Given the description of an element on the screen output the (x, y) to click on. 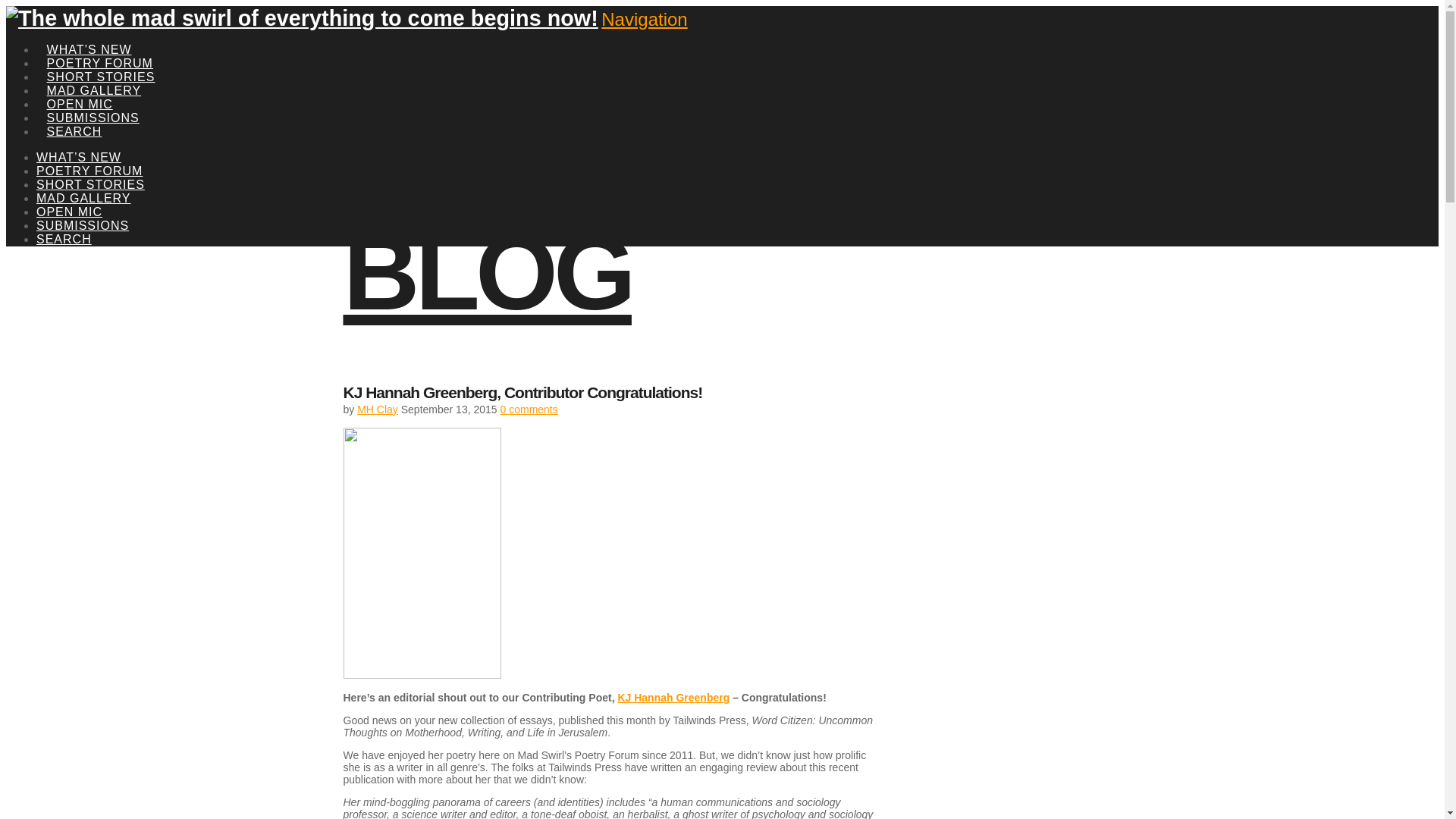
MAD GALLERY (93, 73)
Blog (628, 232)
SUBMISSIONS (82, 225)
SUBMISSIONS (92, 100)
OPEN MIC (68, 211)
SHORT STORIES (100, 59)
SEARCH (74, 114)
POETRY FORUM (89, 170)
0 comments (528, 409)
Navigation (644, 19)
post comments (528, 409)
OPEN MIC (79, 86)
MAD SWIRL BLOG (628, 232)
SEARCH (63, 238)
POETRY FORUM (99, 45)
